Given the description of an element on the screen output the (x, y) to click on. 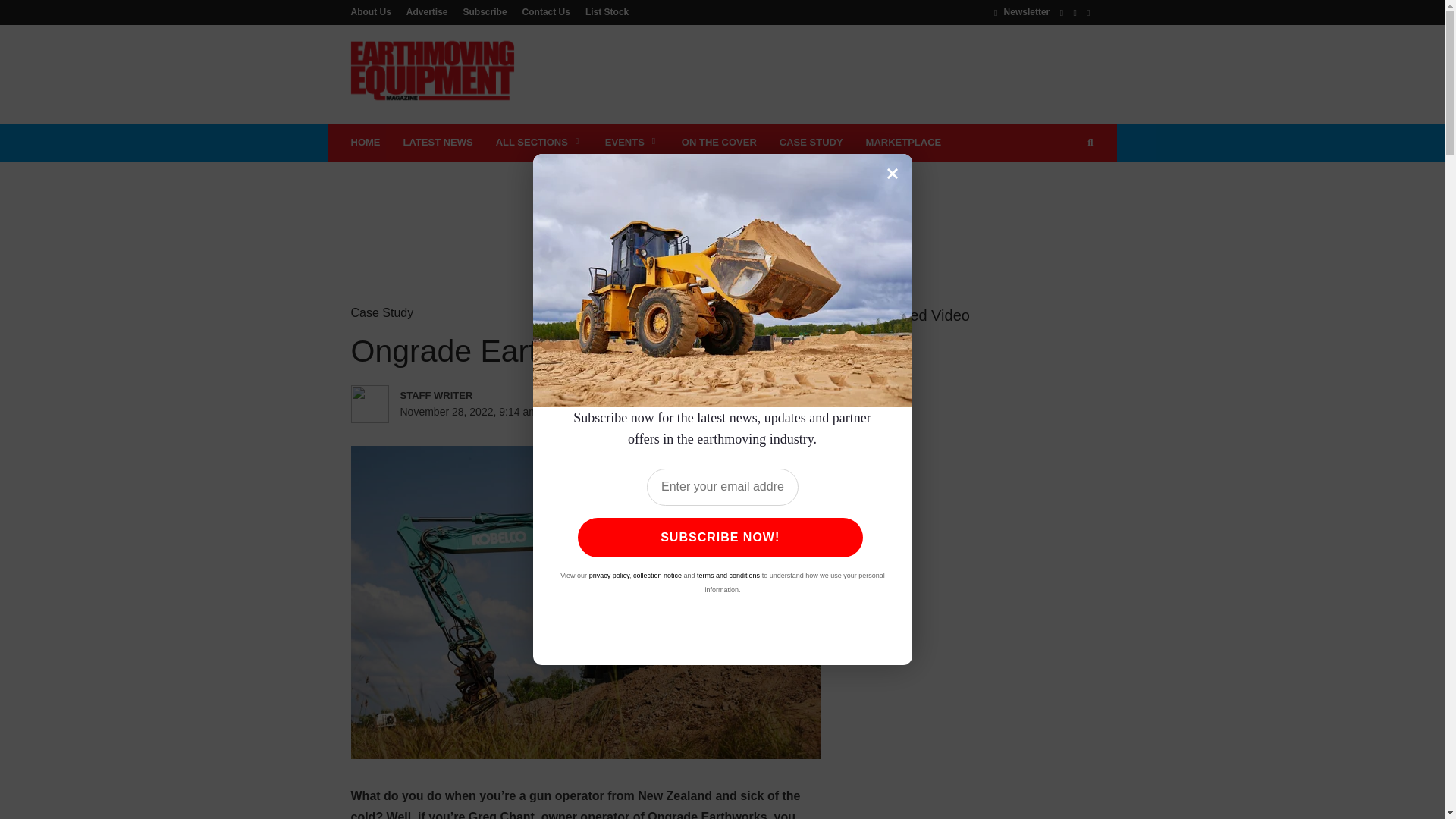
Share on Email (728, 411)
3rd party ad content (721, 210)
View all posts by Staff Writer (465, 394)
Page 58 (585, 802)
Share on Copy Link (759, 411)
HOME (365, 142)
LATEST NEWS (437, 142)
Contact Us (546, 11)
Share on Facebook (604, 411)
3rd party ad content (817, 74)
Share on Print (697, 411)
Newsletter (1021, 11)
Share on Twitter (635, 411)
Share on LinkedIn (665, 411)
List Stock (603, 11)
